Given the description of an element on the screen output the (x, y) to click on. 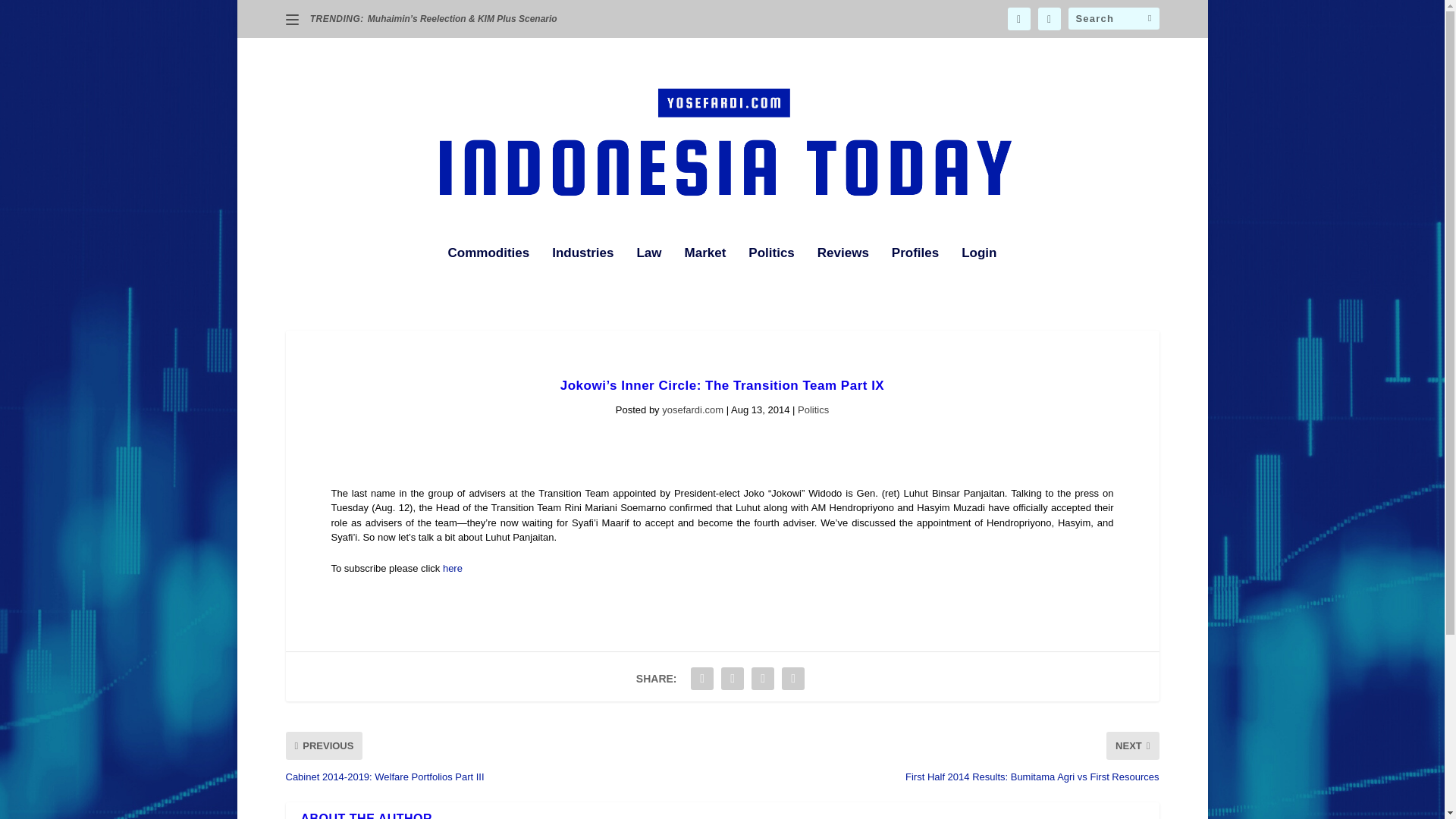
Industries (581, 273)
Reviews (842, 273)
Posts by yosefardi.com (692, 409)
Commodities (488, 273)
